Given the description of an element on the screen output the (x, y) to click on. 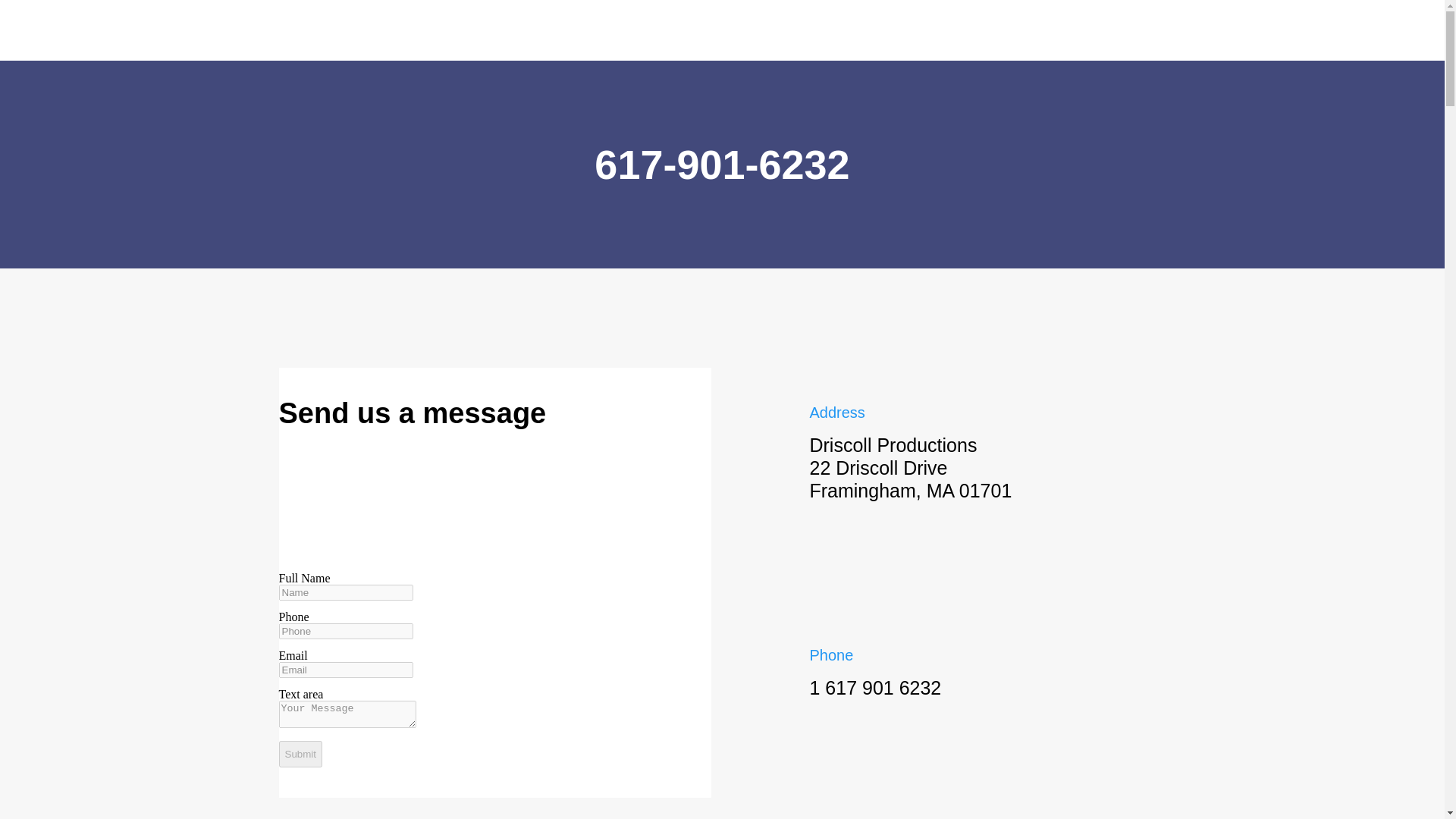
1 617 901 6232 (874, 688)
Submit (300, 754)
